Given the description of an element on the screen output the (x, y) to click on. 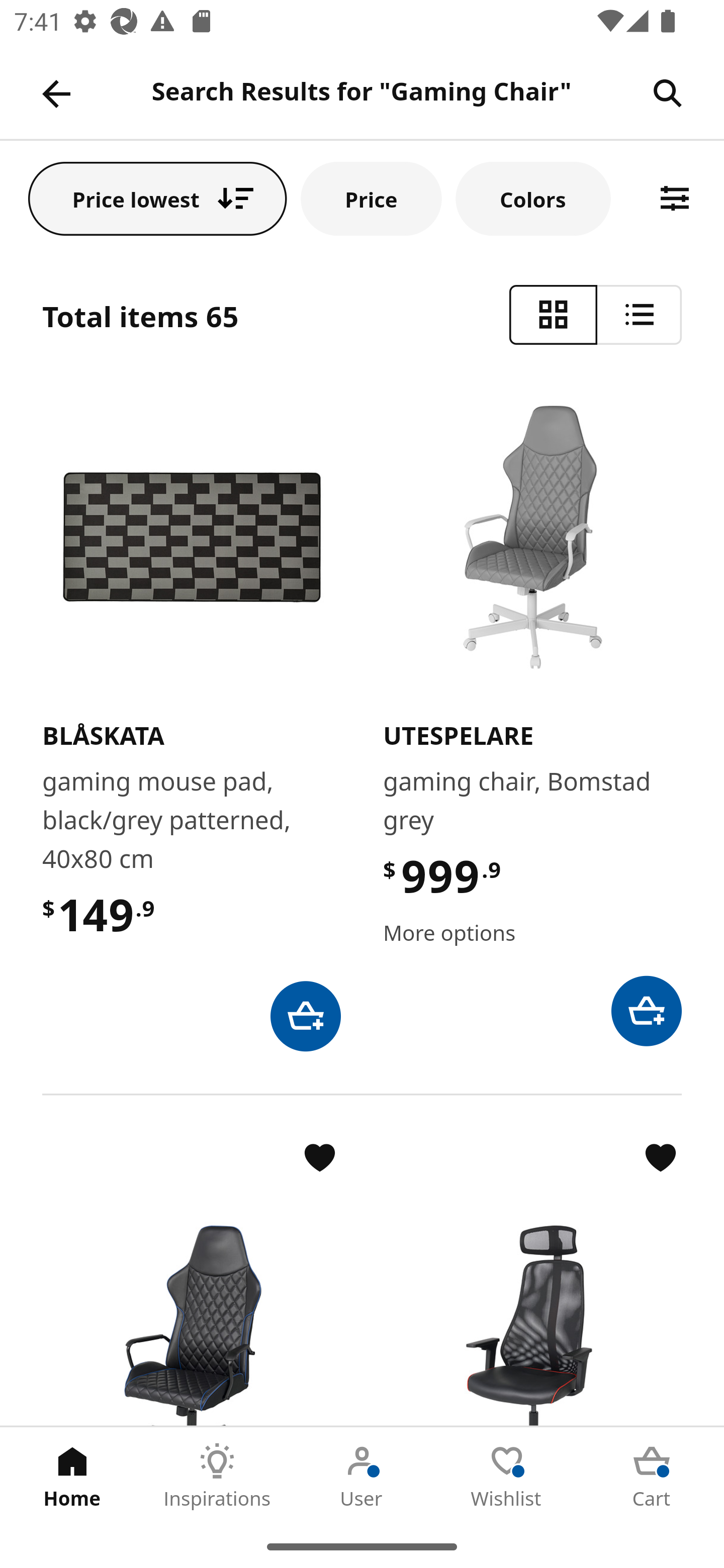
Price lowest (157, 198)
Price (371, 198)
Colors (533, 198)
Home
Tab 1 of 5 (72, 1476)
Inspirations
Tab 2 of 5 (216, 1476)
User
Tab 3 of 5 (361, 1476)
Wishlist
Tab 4 of 5 (506, 1476)
Cart
Tab 5 of 5 (651, 1476)
